Given the description of an element on the screen output the (x, y) to click on. 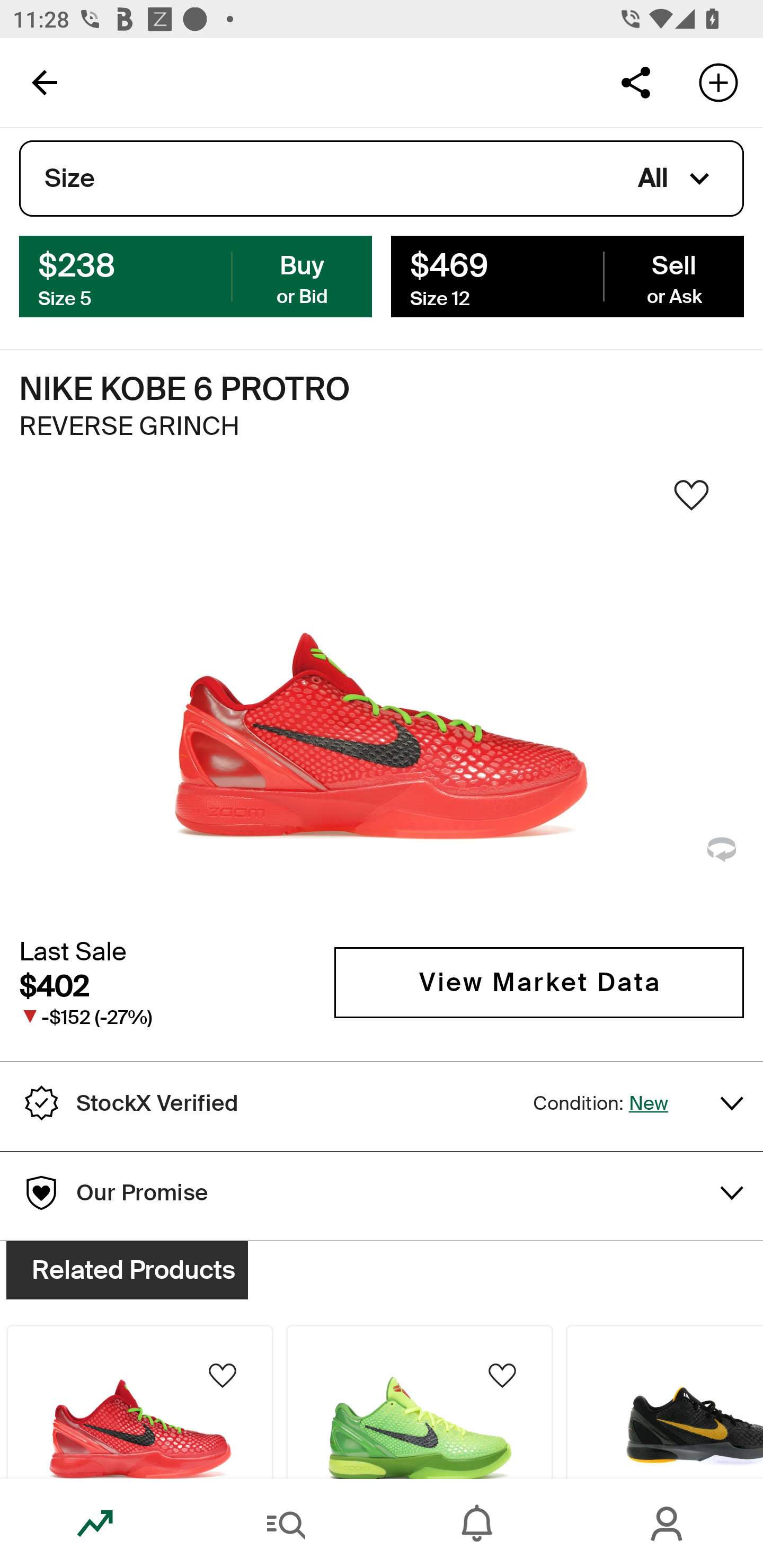
Share (635, 81)
Add (718, 81)
Size All (381, 178)
$238 Buy Size 5 or Bid (195, 275)
$469 Sell Size 12 or Ask (566, 275)
Sneaker Image (381, 699)
View Market Data (538, 982)
Product Image (139, 1401)
Product Image (419, 1401)
Product Image (664, 1401)
Search (285, 1523)
Inbox (476, 1523)
Account (667, 1523)
